Given the description of an element on the screen output the (x, y) to click on. 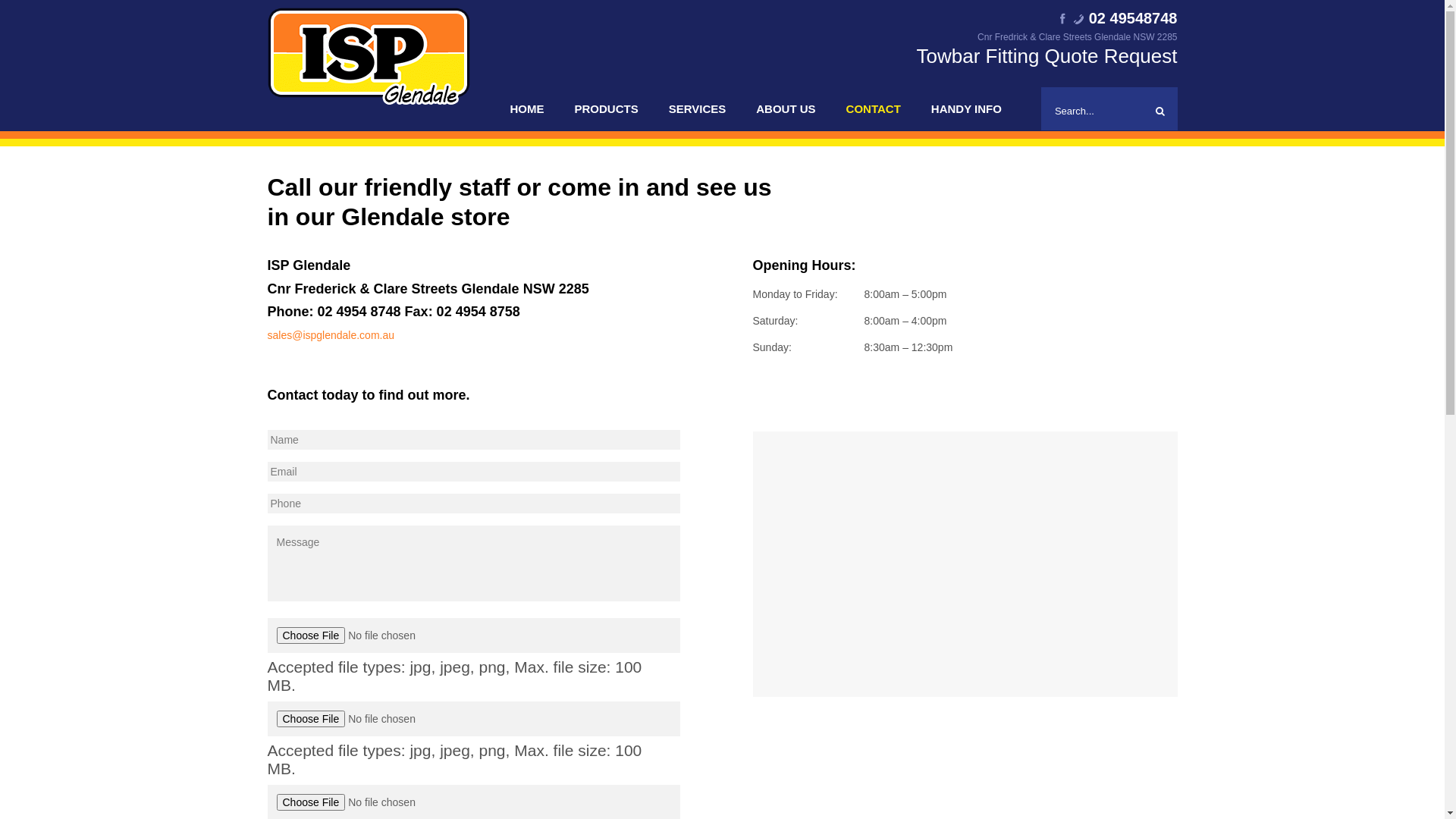
CONTACT Element type: text (873, 109)
Facebook Element type: hover (1064, 18)
ABOUT US Element type: text (785, 109)
Search Element type: text (1159, 111)
Towbar Fitting Quote Request Element type: text (1046, 55)
PRODUCTS Element type: text (606, 109)
SERVICES Element type: text (697, 109)
HOME Element type: text (526, 109)
Cnr Fredrick & Clare Streets Glendale NSW 2285 Element type: text (1046, 37)
02 49548748 Element type: text (1125, 18)
Cnr Frederick & Clare Streets Glendale NSW 2285 Element type: text (427, 288)
sales@ispglendale.com.au Element type: text (330, 335)
HANDY INFO Element type: text (966, 109)
02 4954 8748 Element type: text (358, 311)
